Given the description of an element on the screen output the (x, y) to click on. 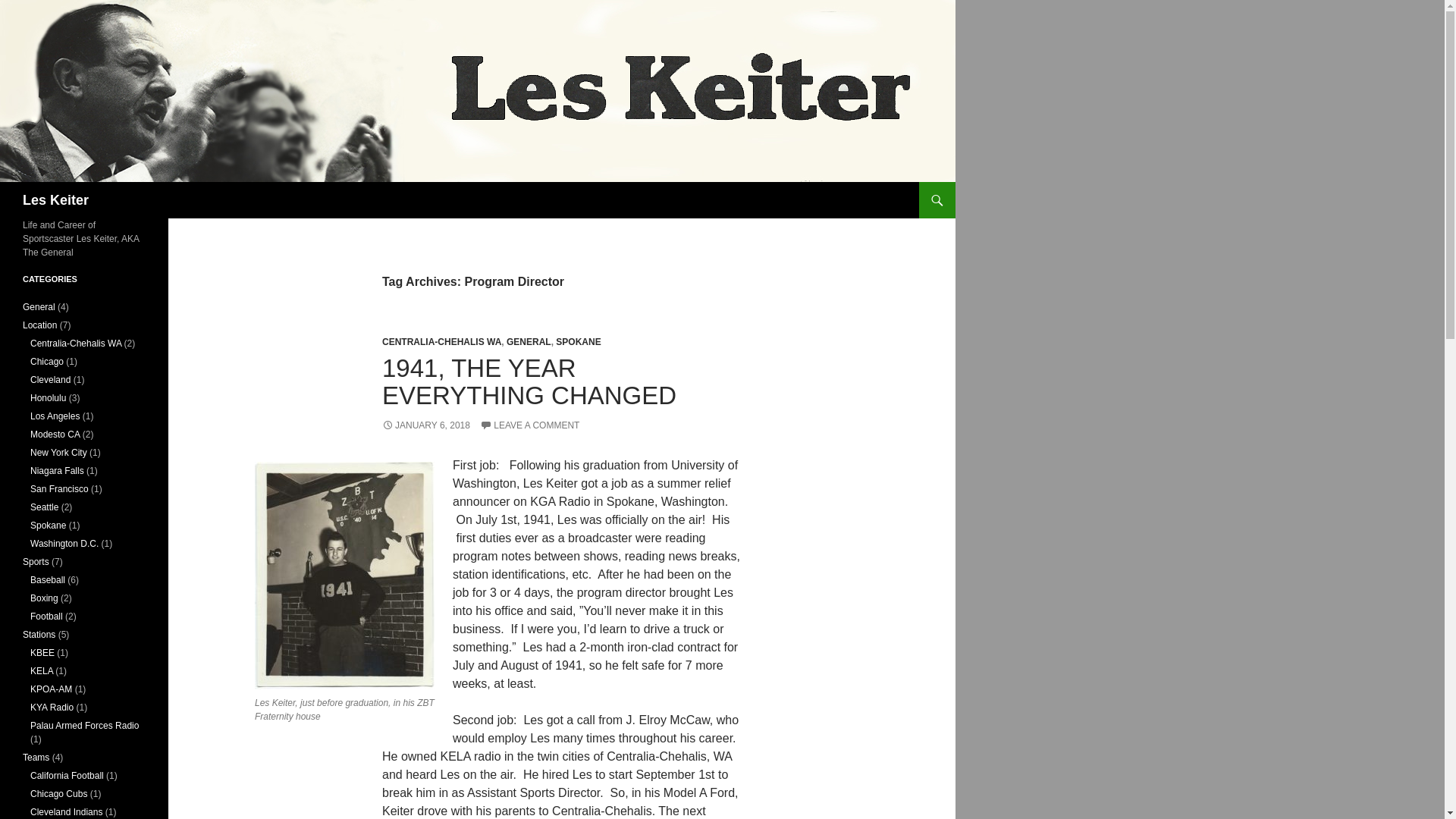
Seattle (44, 507)
JANUARY 6, 2018 (425, 425)
Location (39, 325)
Modesto CA (55, 434)
Centralia-Chehalis WA (75, 343)
1941, THE YEAR EVERYTHING CHANGED (529, 381)
CENTRALIA-CHEHALIS WA (440, 341)
GENERAL (528, 341)
Les Keiter (55, 199)
